Given the description of an element on the screen output the (x, y) to click on. 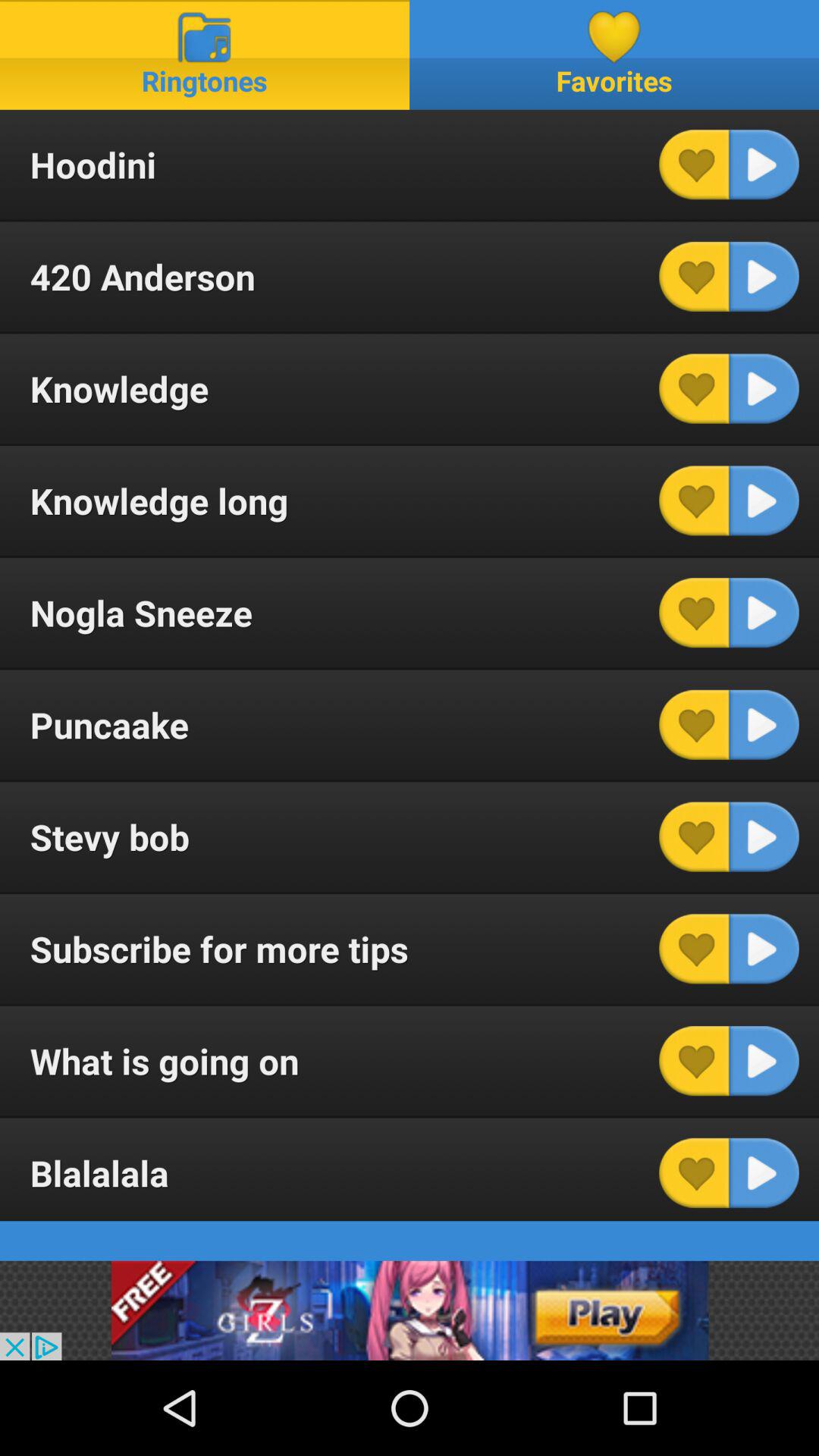
advertising (409, 1310)
